Given the description of an element on the screen output the (x, y) to click on. 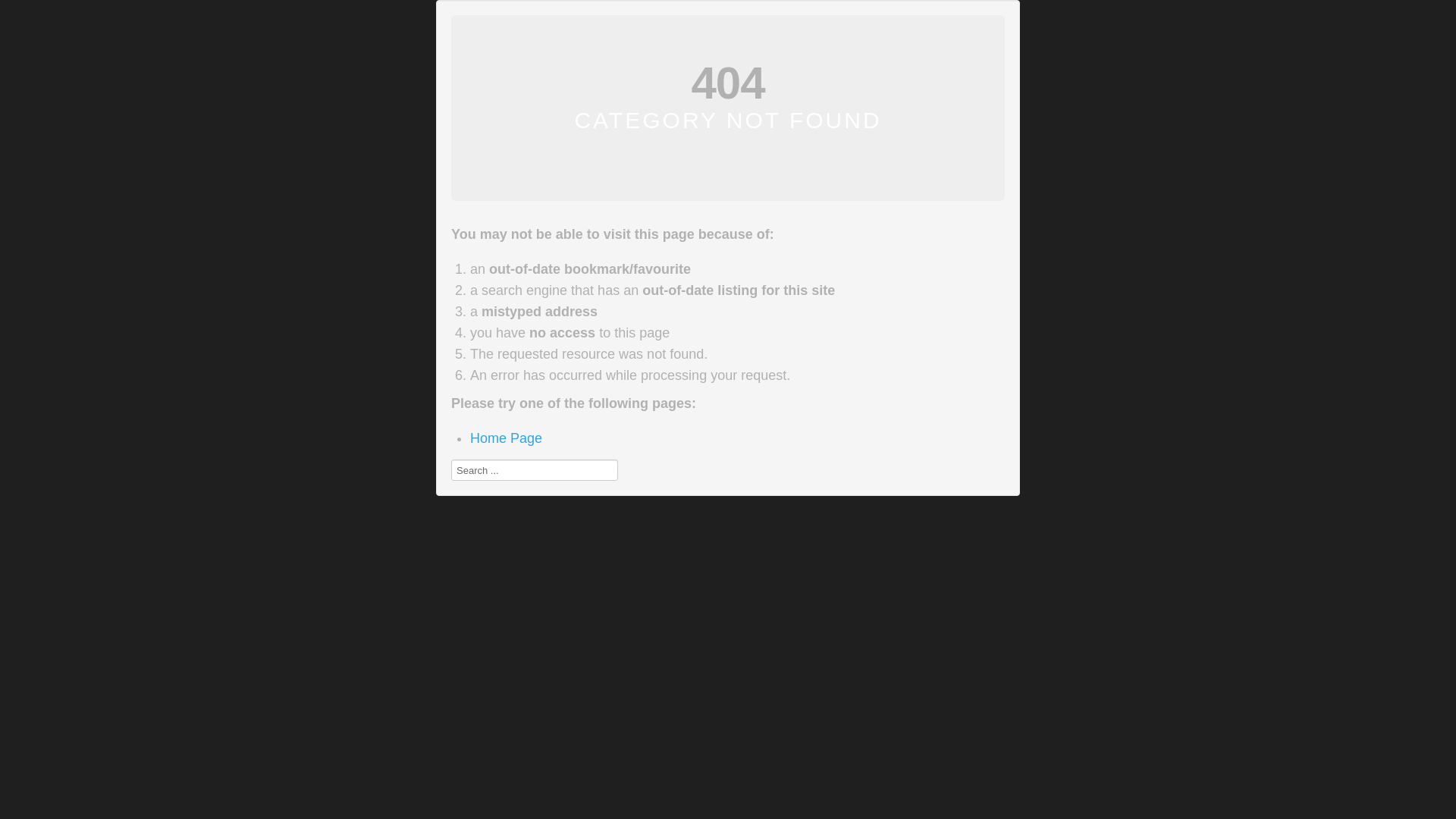
Home Page Element type: text (506, 437)
